Given the description of an element on the screen output the (x, y) to click on. 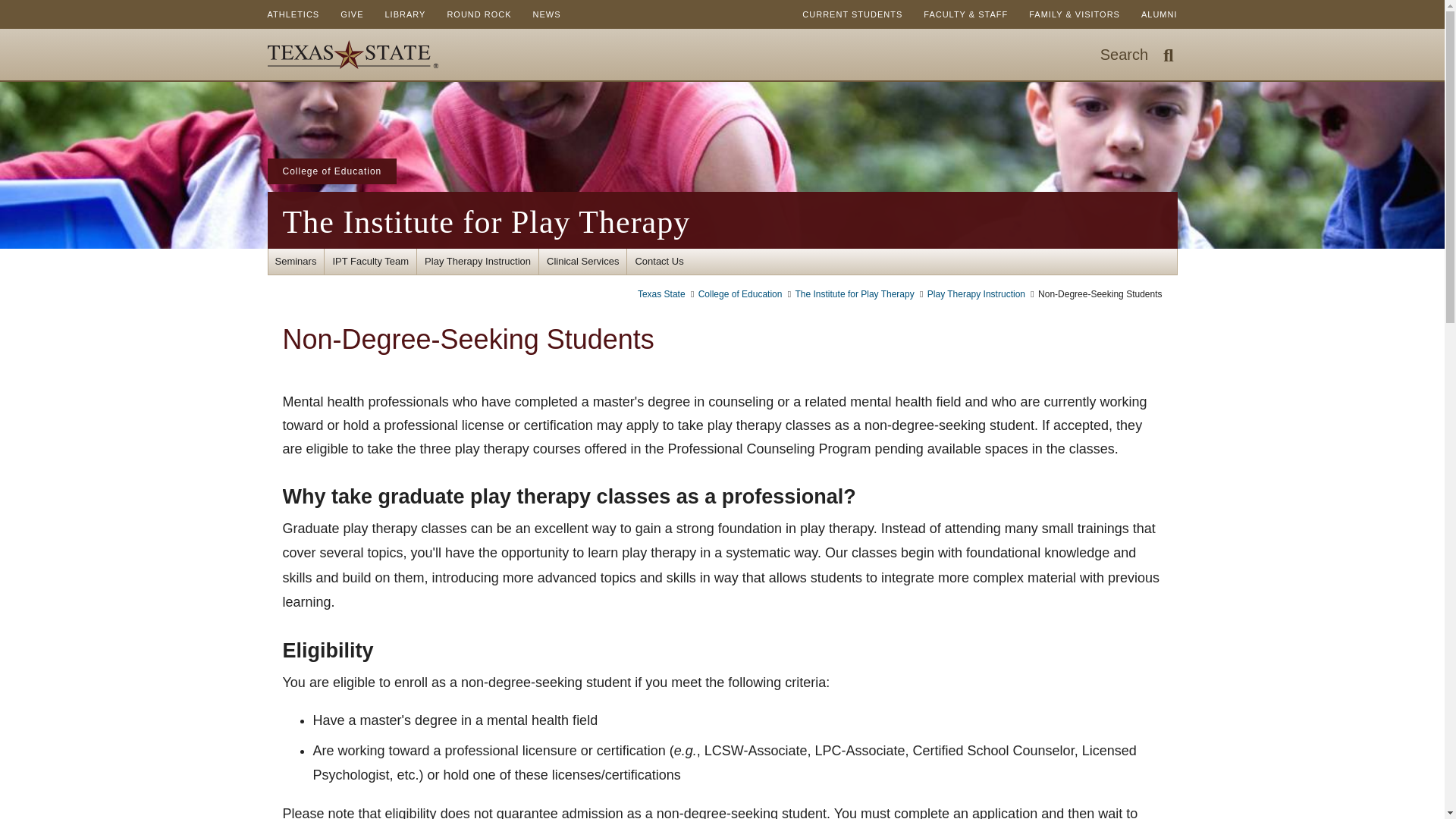
GIVE (352, 14)
ATHLETICS (293, 14)
NEWS (547, 14)
LIBRARY (405, 14)
ROUND ROCK (478, 14)
CURRENT STUDENTS (852, 14)
ALUMNI (1159, 14)
